Given the description of an element on the screen output the (x, y) to click on. 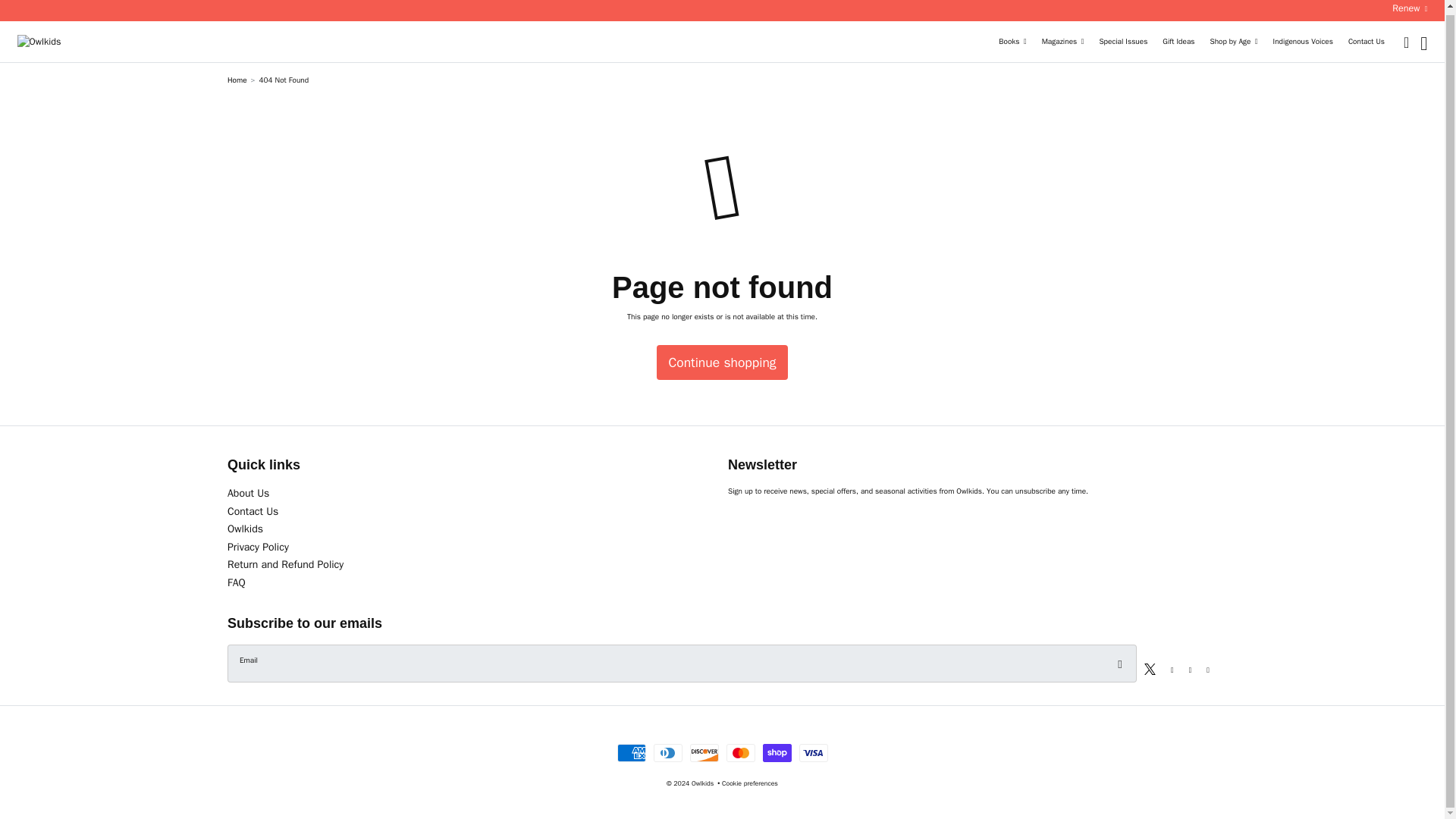
Magazines (1062, 41)
Home (237, 80)
Shop by Age (1233, 41)
Special Issues (1122, 41)
Gift Ideas (1178, 41)
Renew (1408, 10)
Books (1012, 41)
